Given the description of an element on the screen output the (x, y) to click on. 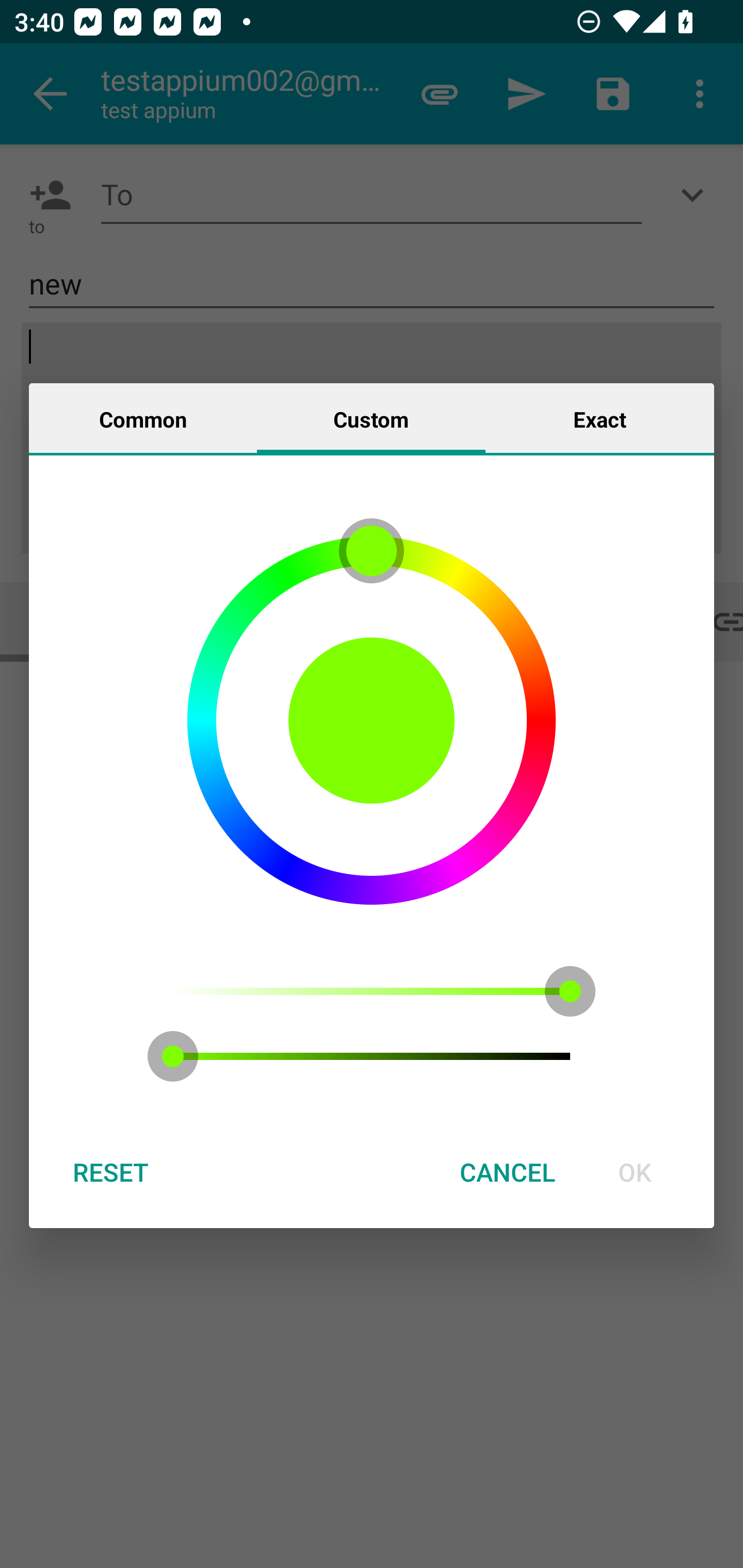
Common (142, 418)
Custom (371, 418)
Exact (599, 418)
RESET (110, 1171)
CANCEL (507, 1171)
OK (634, 1171)
